Given the description of an element on the screen output the (x, y) to click on. 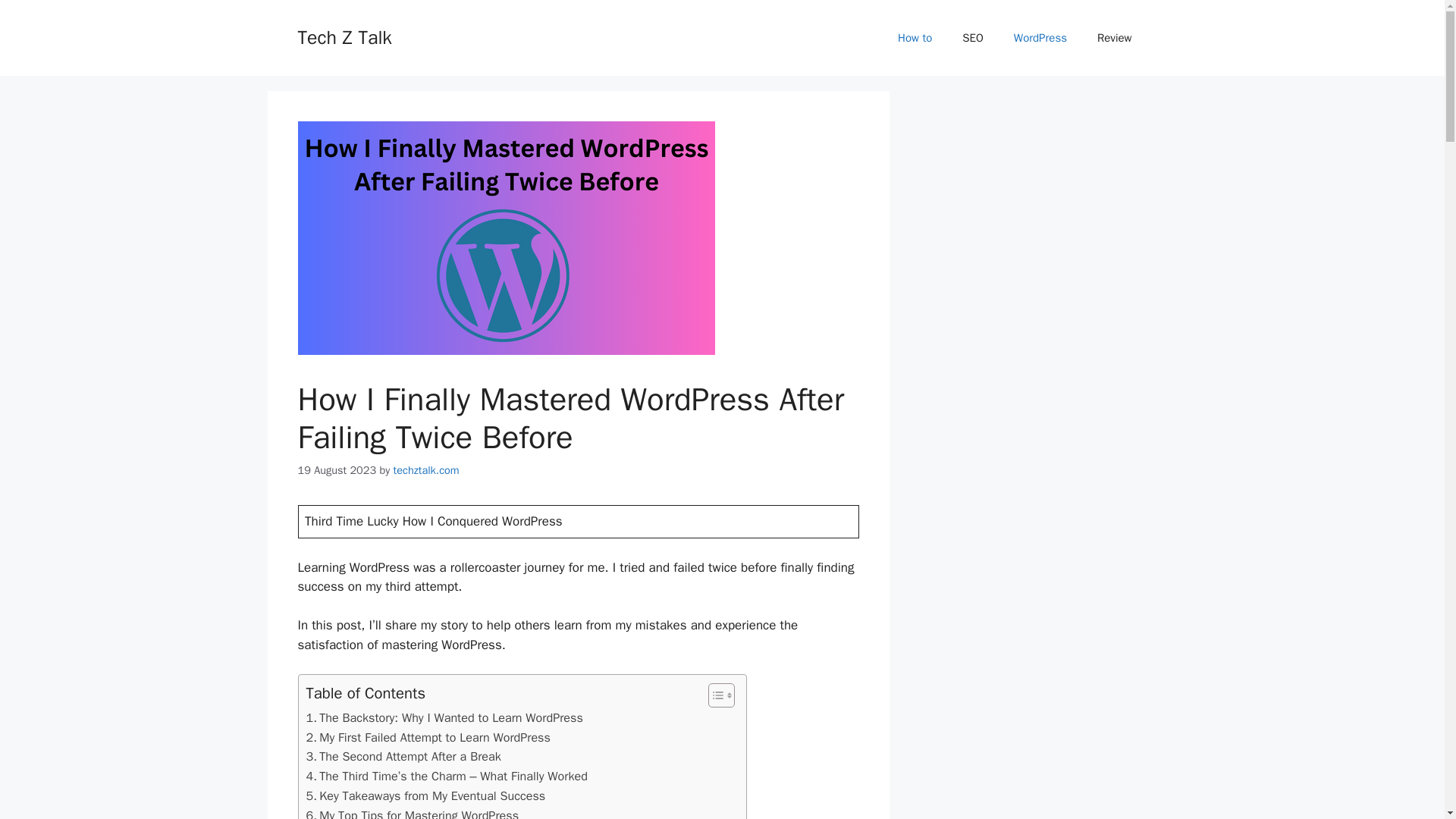
My First Failed Attempt to Learn WordPress (427, 737)
WordPress (1039, 37)
The Second Attempt After a Break (402, 756)
techztalk.com (426, 469)
The Second Attempt After a Break (402, 756)
The Backstory: Why I Wanted to Learn WordPress (444, 718)
My Top Tips for Mastering WordPress (412, 812)
SEO (972, 37)
Key Takeaways from My Eventual Success (425, 795)
My Top Tips for Mastering WordPress (412, 812)
